Given the description of an element on the screen output the (x, y) to click on. 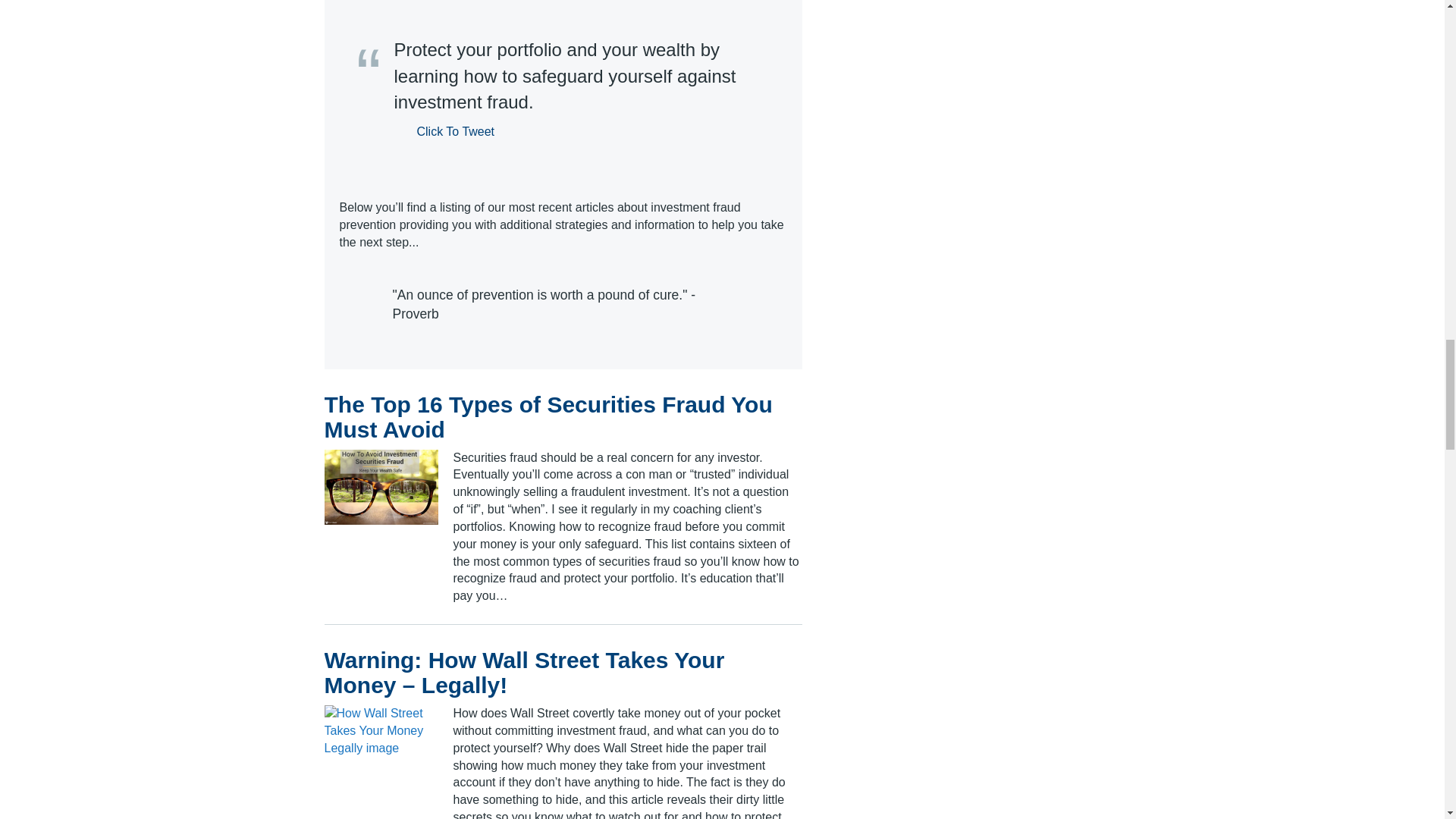
The Top 16 Types of Securities Fraud You Must Avoid (548, 416)
Click To Tweet (444, 131)
